Given the description of an element on the screen output the (x, y) to click on. 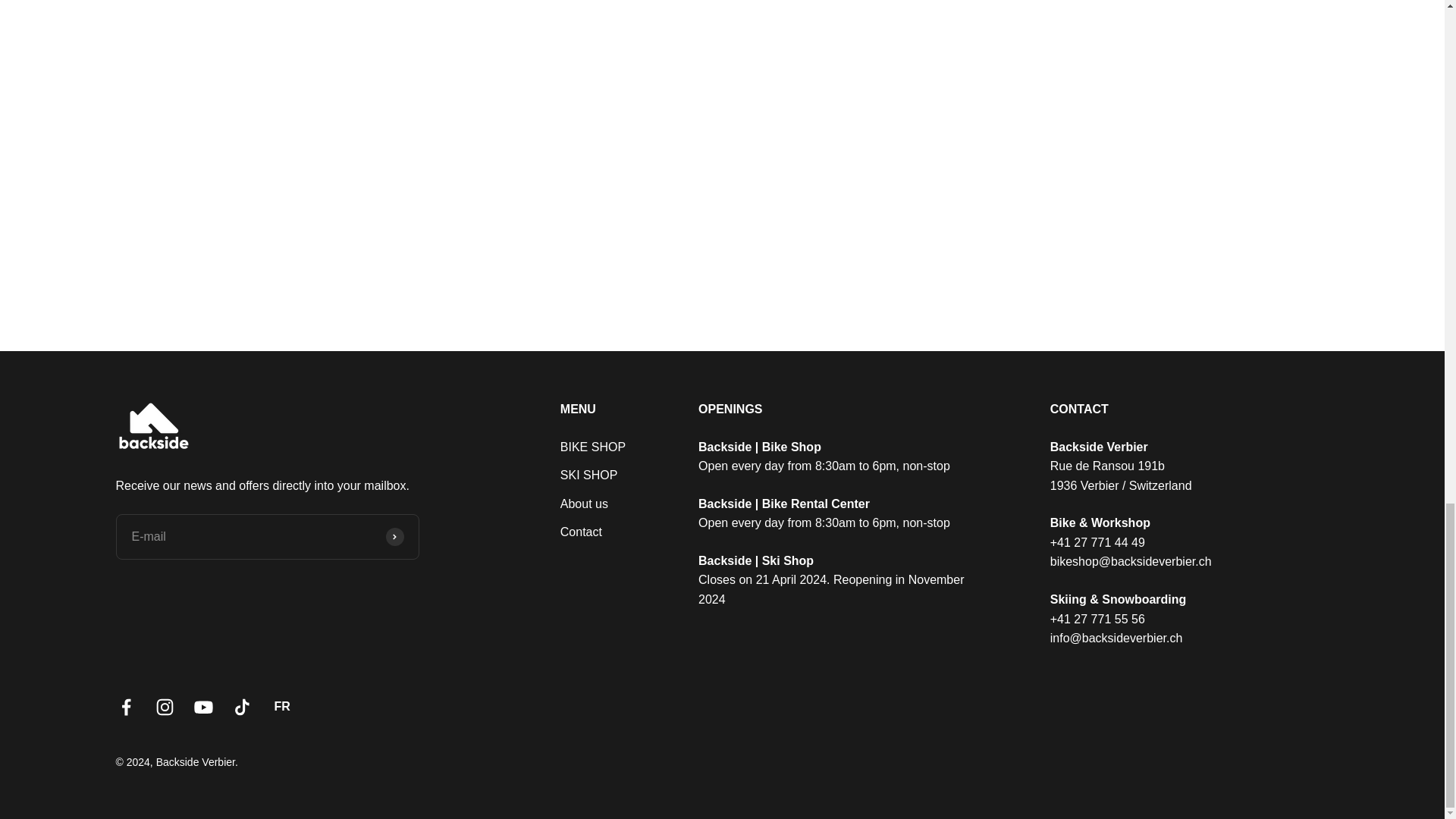
French (281, 706)
